Given the description of an element on the screen output the (x, y) to click on. 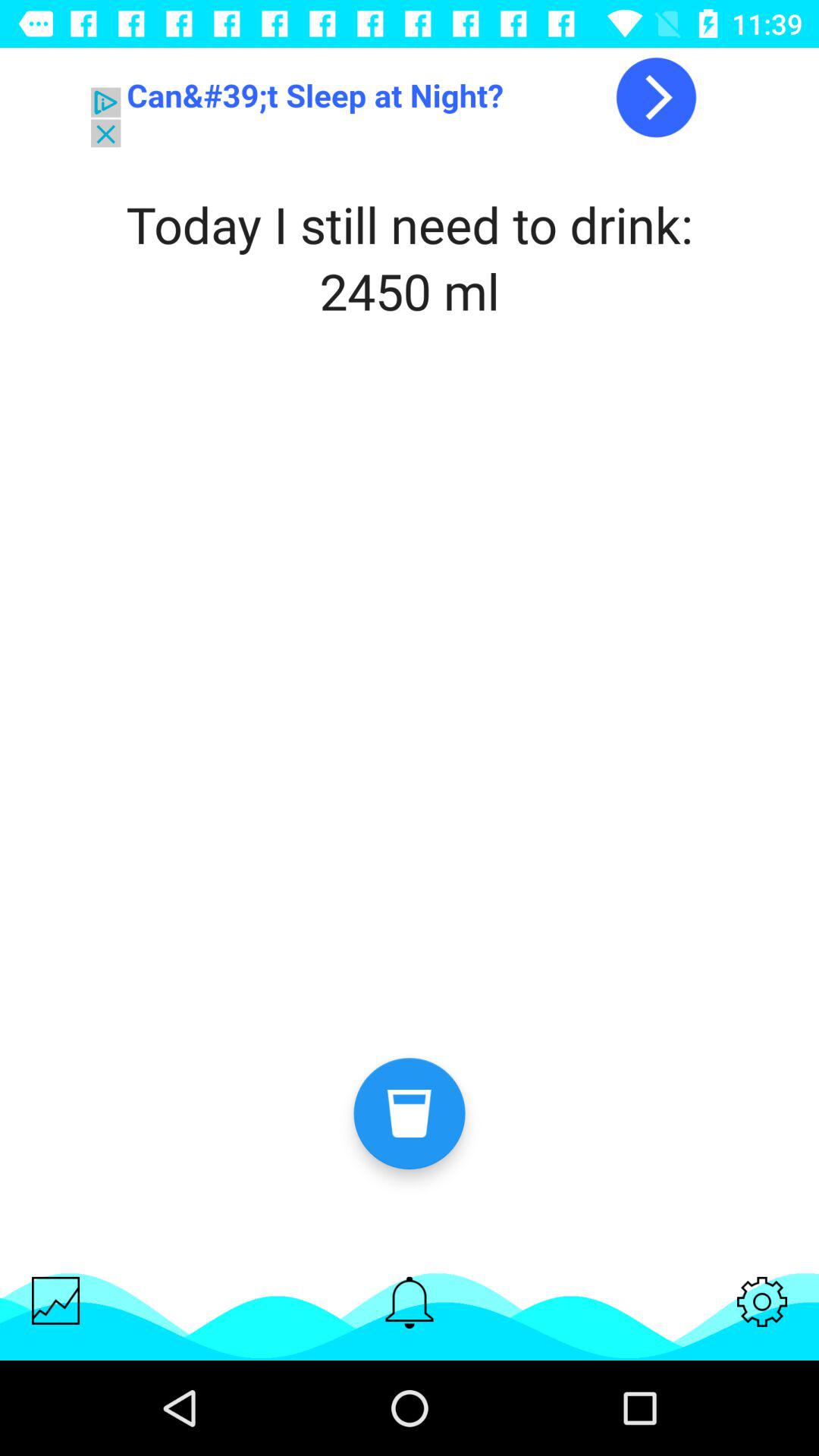
go to settings (762, 1301)
